Given the description of an element on the screen output the (x, y) to click on. 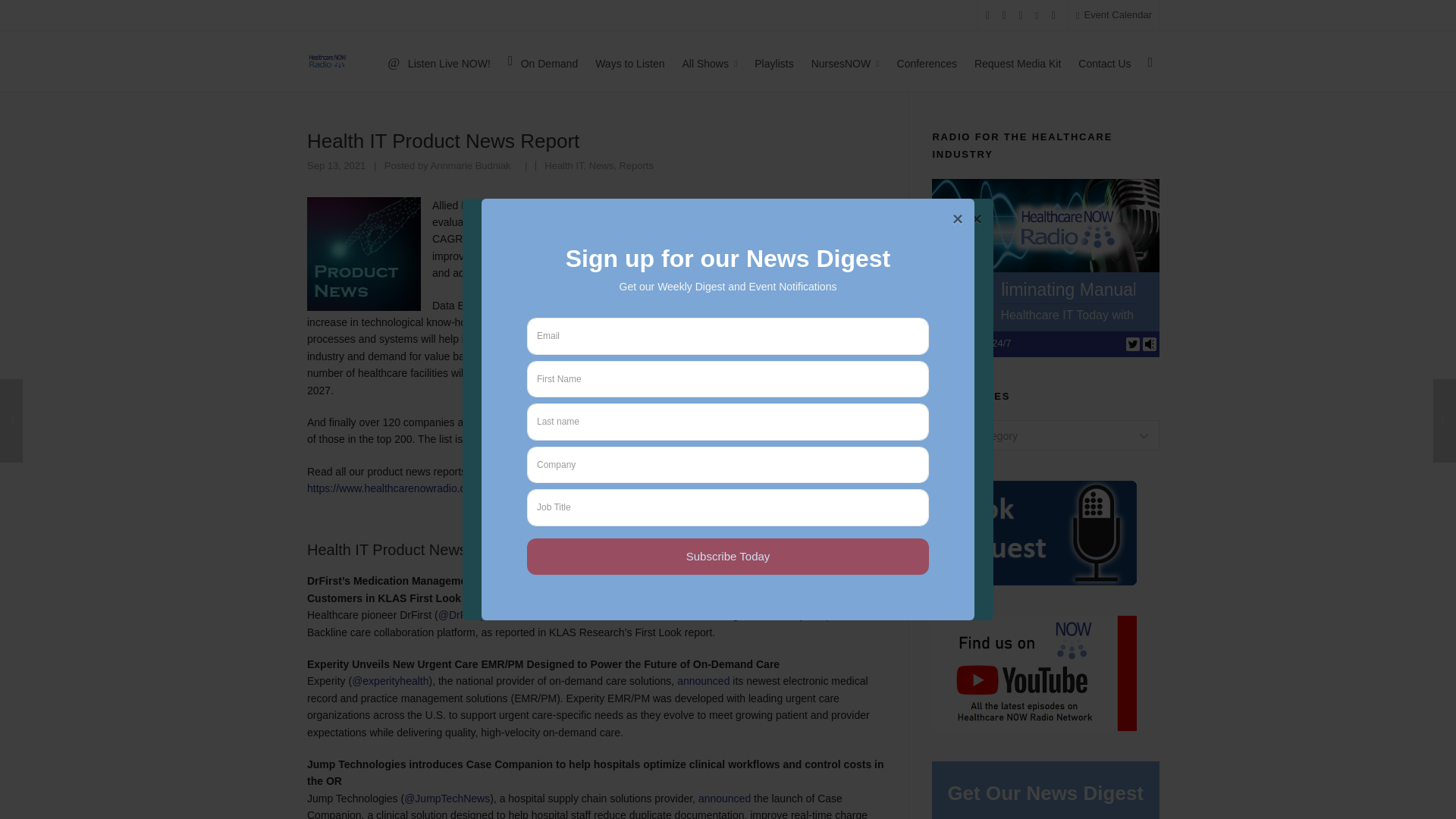
View all posts in Reports (635, 165)
View all posts in Health IT (563, 165)
Posts by Annmarie Budniak (470, 165)
View all posts in News (600, 165)
Twitter (1132, 343)
